Given the description of an element on the screen output the (x, y) to click on. 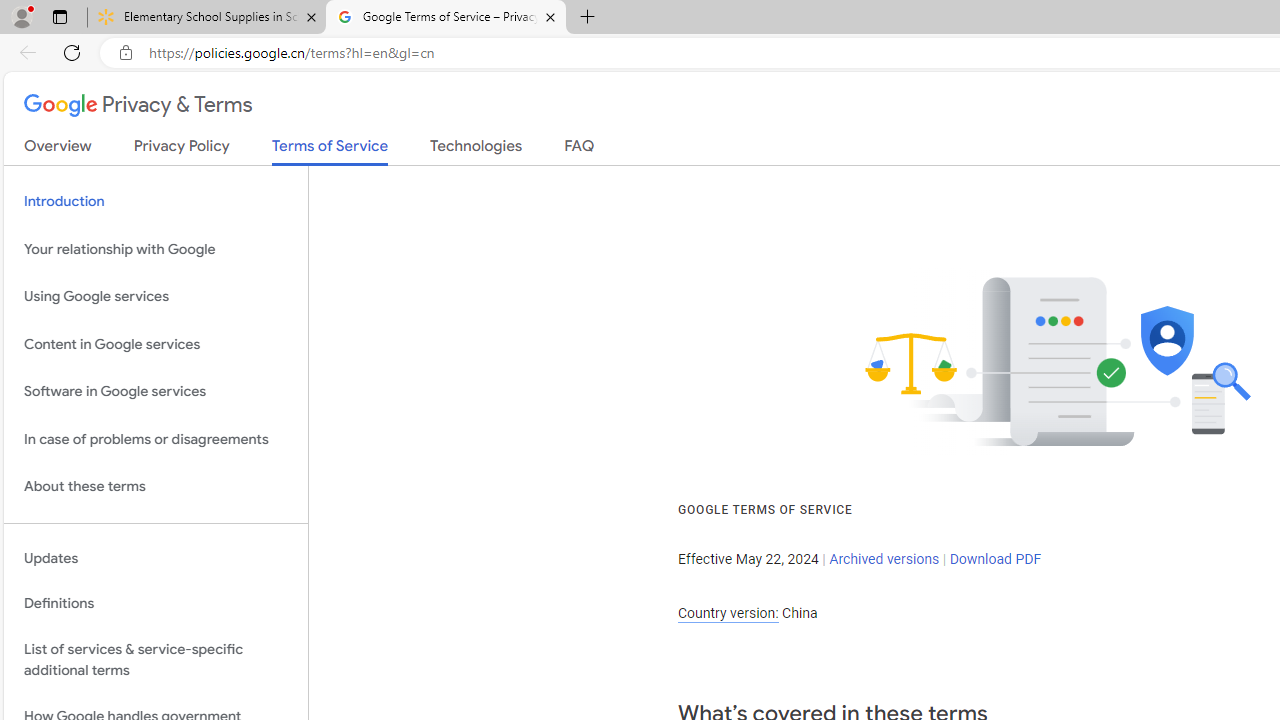
Updates (155, 557)
Using Google services (155, 296)
Your relationship with Google (155, 249)
Your relationship with Google (155, 249)
List of services & service-specific additional terms (155, 659)
In case of problems or disagreements (155, 438)
Introduction (155, 201)
Definitions (155, 604)
Terms of Service (330, 151)
About these terms (155, 486)
FAQ (579, 150)
Updates (155, 557)
